Given the description of an element on the screen output the (x, y) to click on. 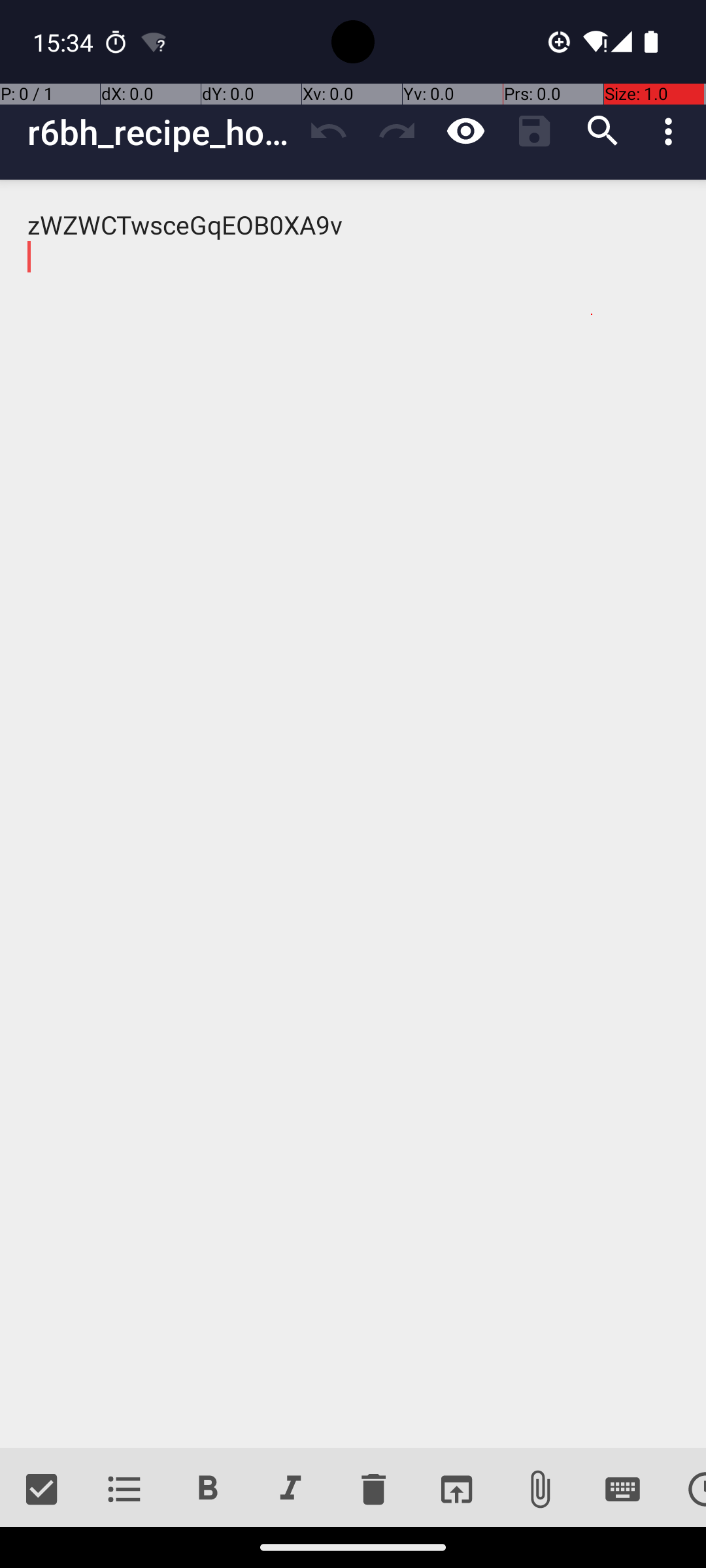
r6bh_recipe_homemade_pizza Element type: android.widget.TextView (160, 131)
zWZWCTwsceGqEOB0XA9v
 Element type: android.widget.EditText (353, 813)
